Given the description of an element on the screen output the (x, y) to click on. 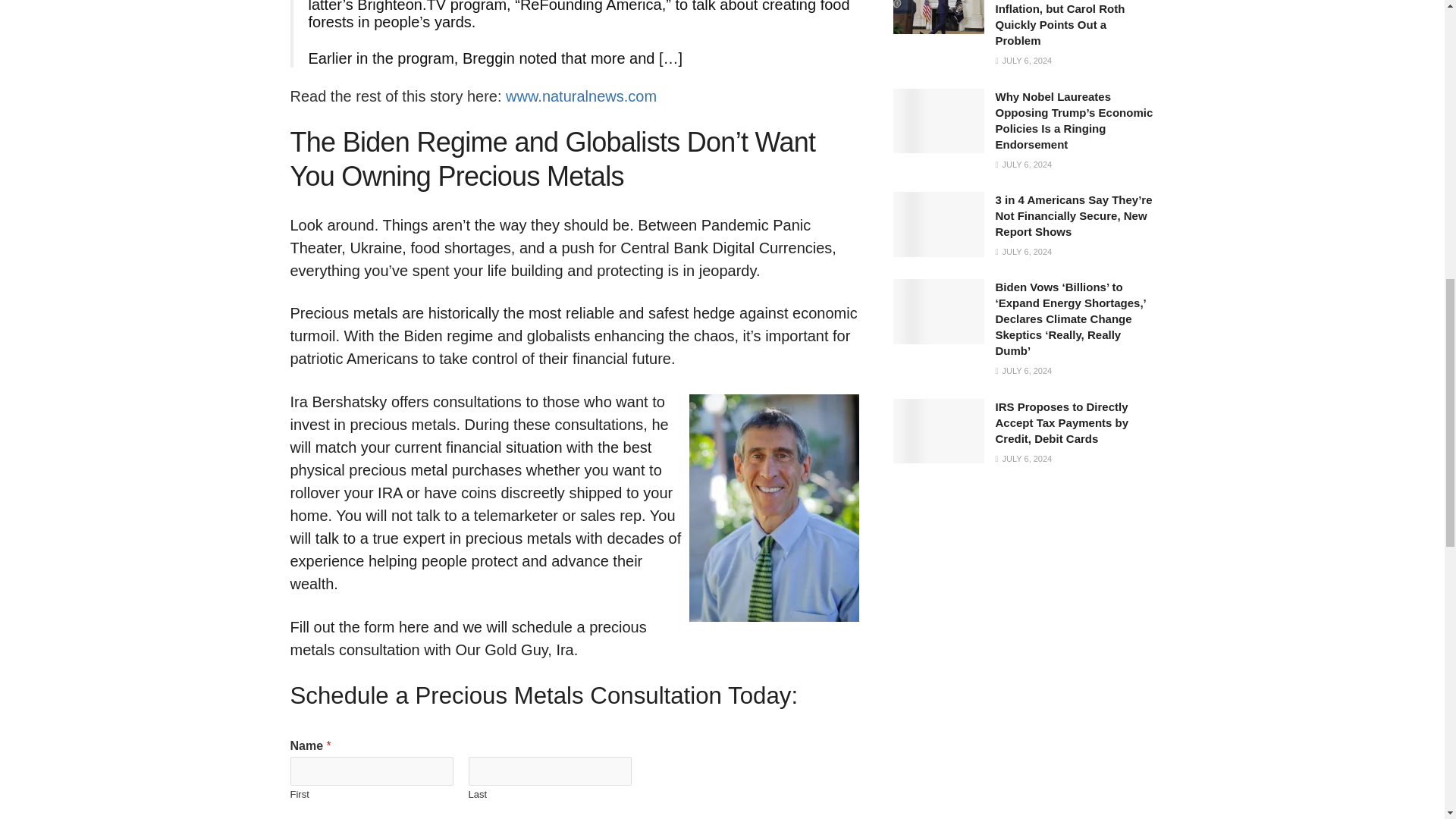
www.naturalnews.com (580, 95)
